Given the description of an element on the screen output the (x, y) to click on. 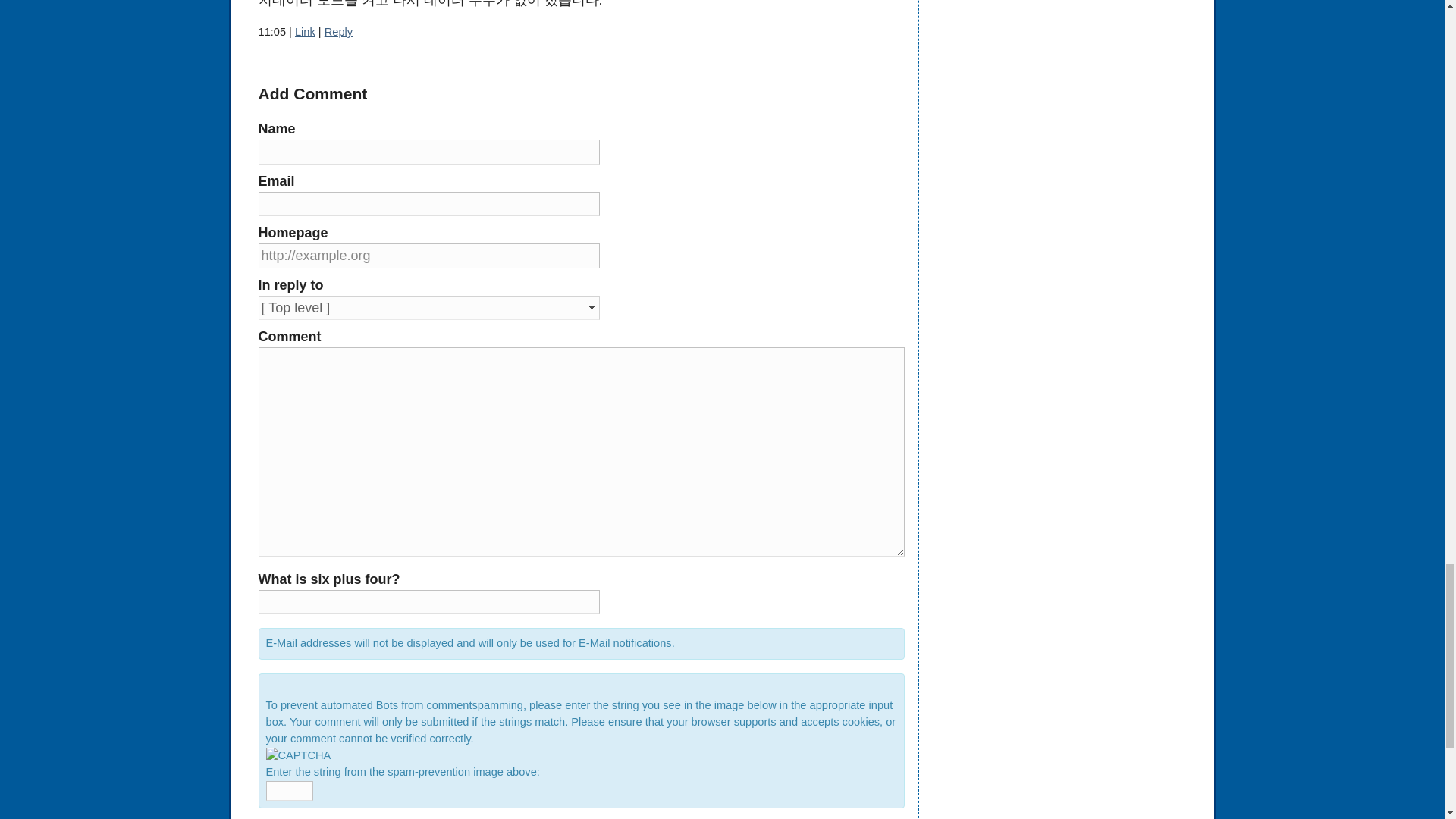
Link (305, 31)
Enter the string you see here in the input box! (297, 755)
Permanent link for this comment (305, 31)
Reply (338, 31)
